Given the description of an element on the screen output the (x, y) to click on. 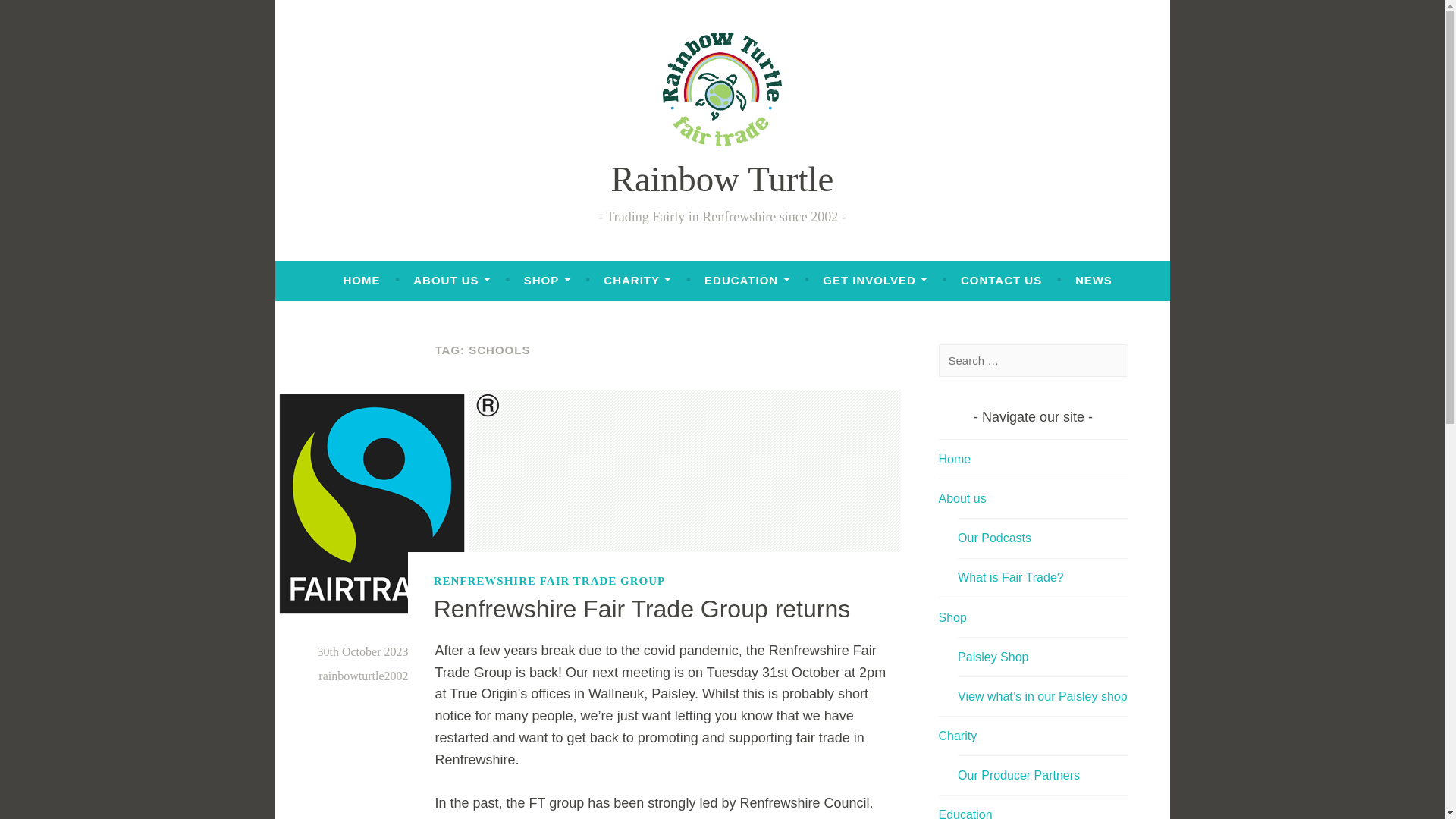
GET INVOLVED (874, 280)
RENFREWSHIRE FAIR TRADE GROUP (549, 580)
Search (37, 15)
CHARITY (637, 280)
Home (955, 459)
Renfrewshire Fair Trade Group returns (641, 608)
HOME (361, 280)
EDUCATION (746, 280)
CONTACT US (1001, 280)
rainbowturtle2002 (362, 675)
30th October 2023 (363, 651)
SHOP (547, 280)
ABOUT US (451, 280)
Rainbow Turtle (722, 178)
NEWS (1093, 280)
